Given the description of an element on the screen output the (x, y) to click on. 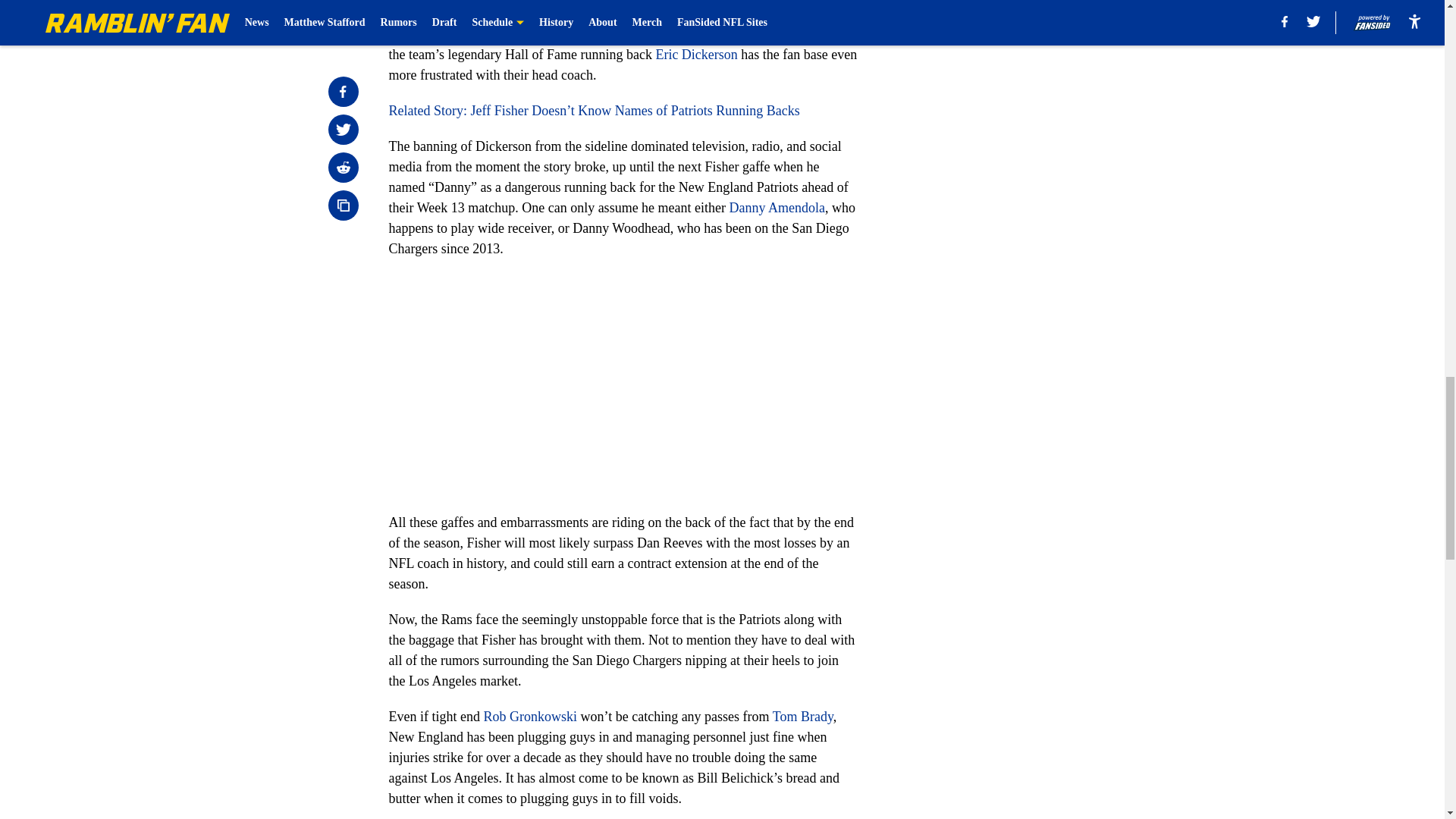
Eric Dickerson (695, 54)
Tom Brady (802, 716)
Danny Amendola (777, 207)
Rob Gronkowski (529, 716)
